Given the description of an element on the screen output the (x, y) to click on. 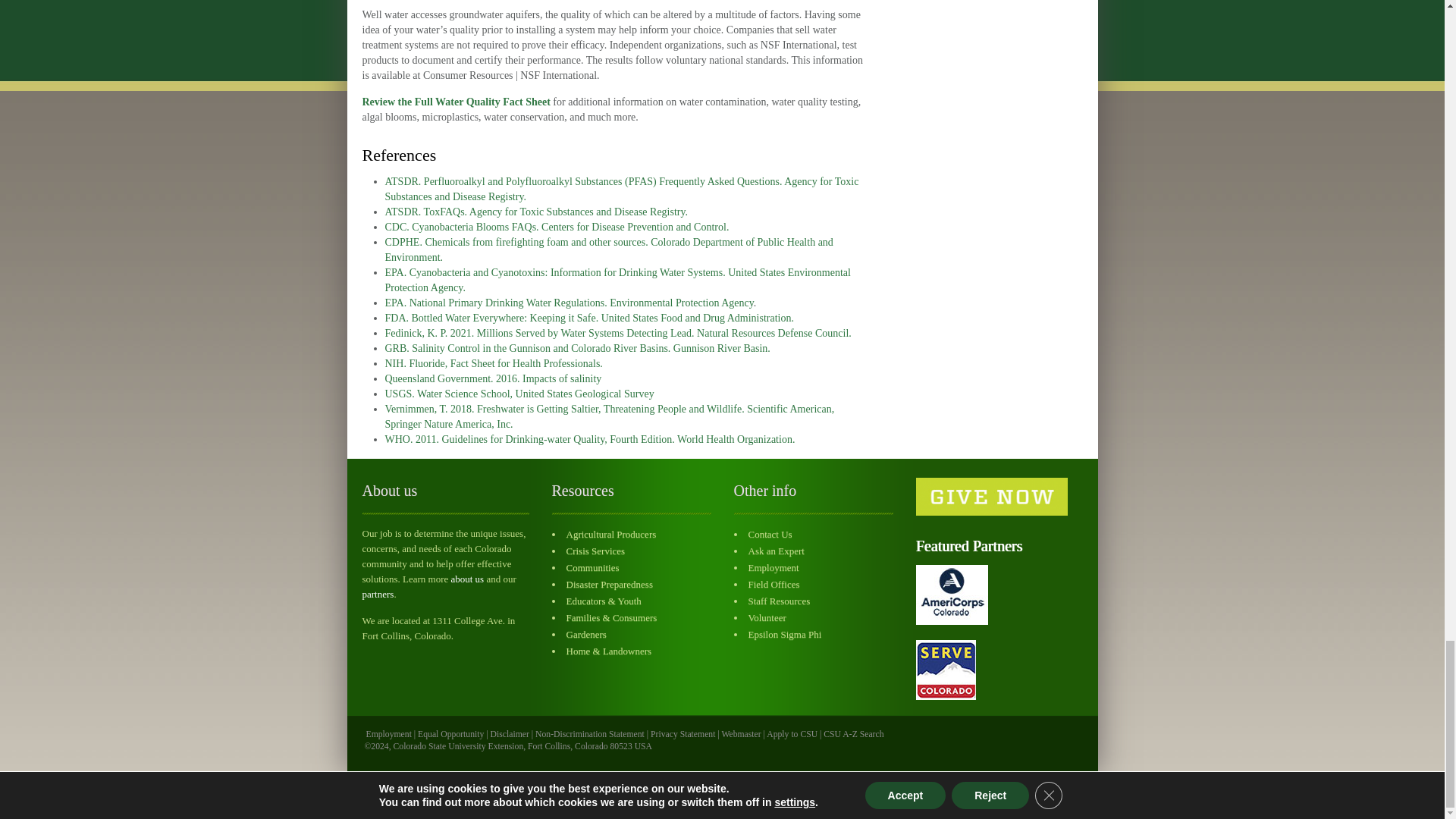
Offsite link (853, 734)
Offsite link (682, 734)
Offsite link (450, 734)
Offsite link (791, 734)
Offsite link (509, 734)
